Given the description of an element on the screen output the (x, y) to click on. 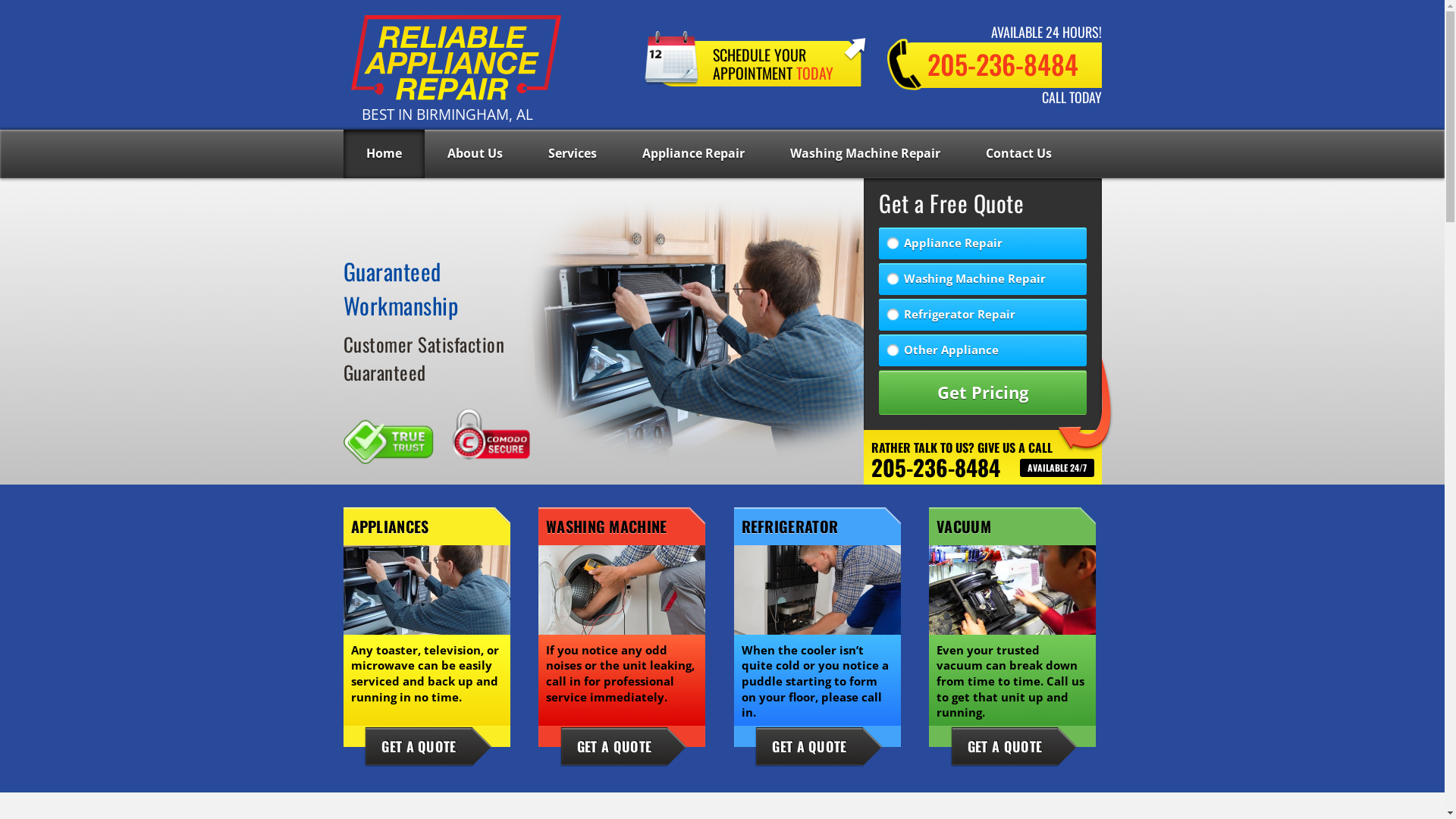
GET A QUOTE Element type: text (1004, 746)
SCHEDULE YOUR APPOINTMENT TODAY Element type: text (755, 58)
Appliance Repair Element type: text (692, 153)
Contact Us Element type: text (1018, 153)
205-236-8484 Element type: text (935, 466)
Home Element type: text (382, 153)
GET A QUOTE Element type: text (614, 746)
GET A QUOTE Element type: text (809, 746)
BEST IN BIRMINGHAM, AL Element type: text (455, 58)
GET A QUOTE Element type: text (418, 746)
About Us Element type: text (474, 153)
Get Pricing Element type: text (981, 392)
205-236-8484 Element type: text (994, 64)
Washing Machine Repair Element type: text (865, 153)
Services Element type: text (571, 153)
